Given the description of an element on the screen output the (x, y) to click on. 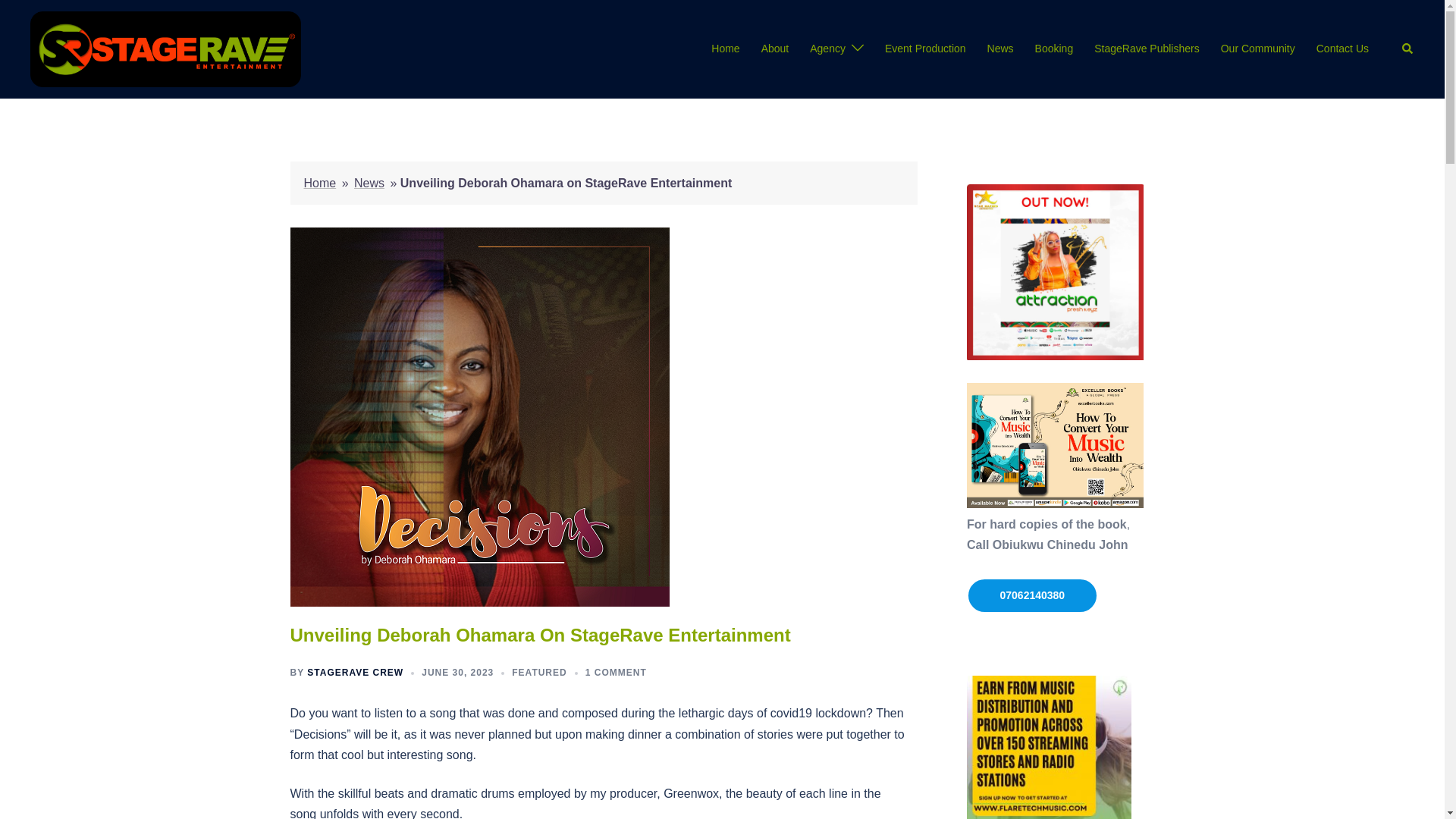
Our Community (1258, 49)
Booking (1054, 49)
FEATURED (539, 672)
Event Production (925, 49)
Agency (827, 49)
About (775, 49)
STAGERAVE CREW (355, 672)
Home (725, 49)
Contact Us (1342, 49)
News (368, 182)
